Given the description of an element on the screen output the (x, y) to click on. 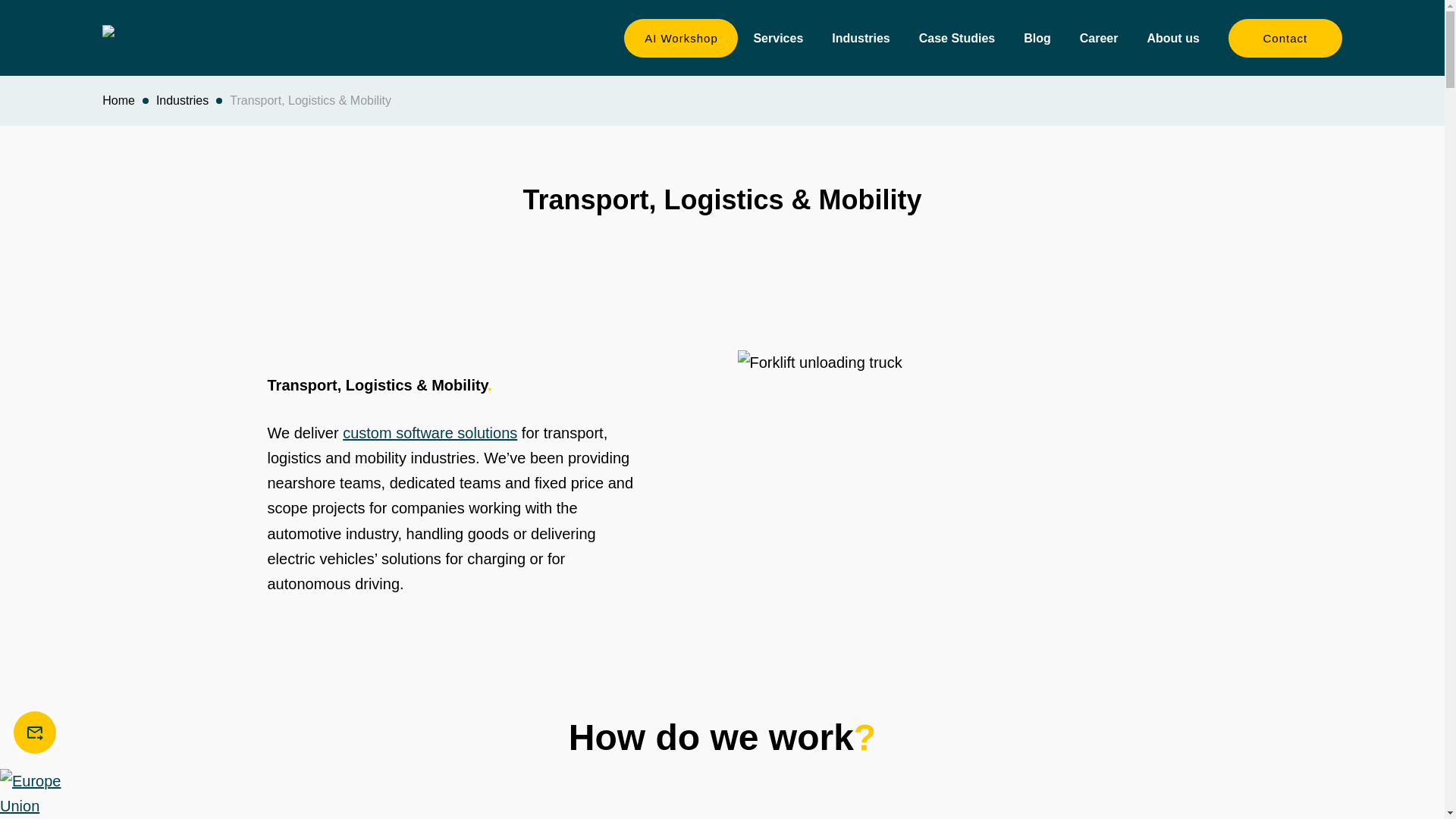
Services (784, 37)
AI Workshop (681, 37)
Industries (866, 37)
